Given the description of an element on the screen output the (x, y) to click on. 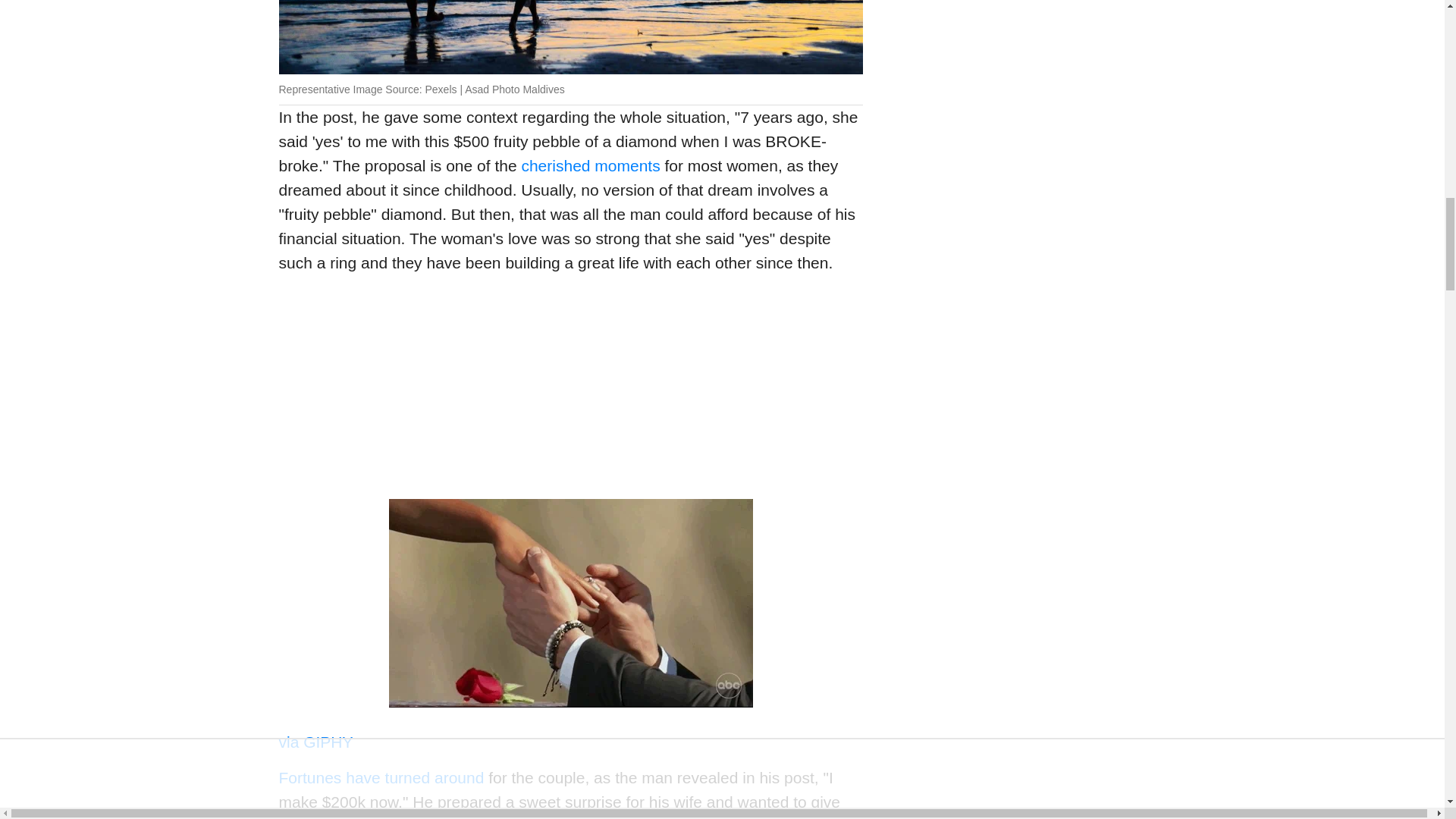
Fortunes have turned around (381, 777)
cherished moments (590, 165)
via GIPHY (316, 742)
